Given the description of an element on the screen output the (x, y) to click on. 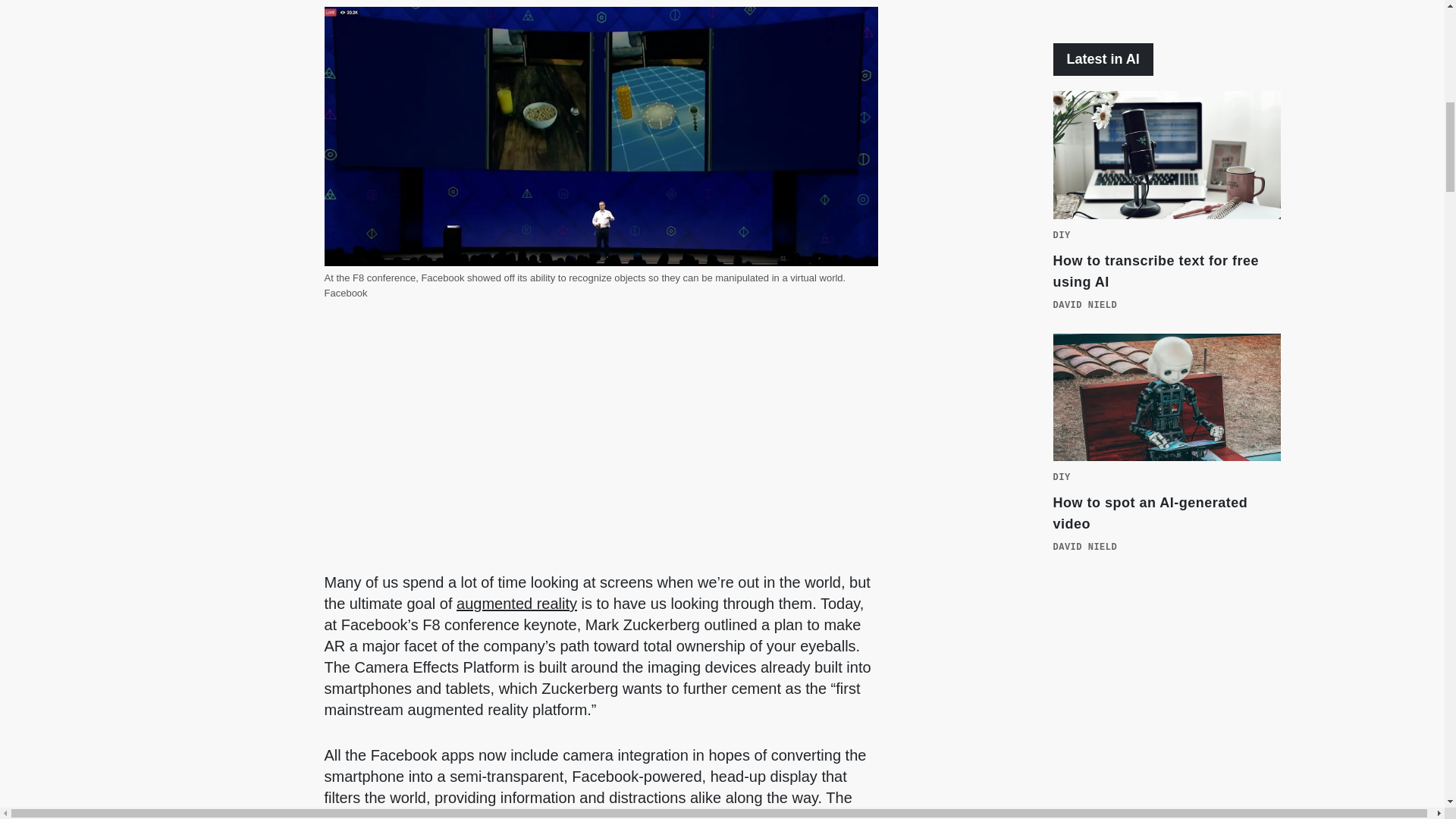
3rd party ad content (1165, 6)
3rd party ad content (1165, 712)
